Given the description of an element on the screen output the (x, y) to click on. 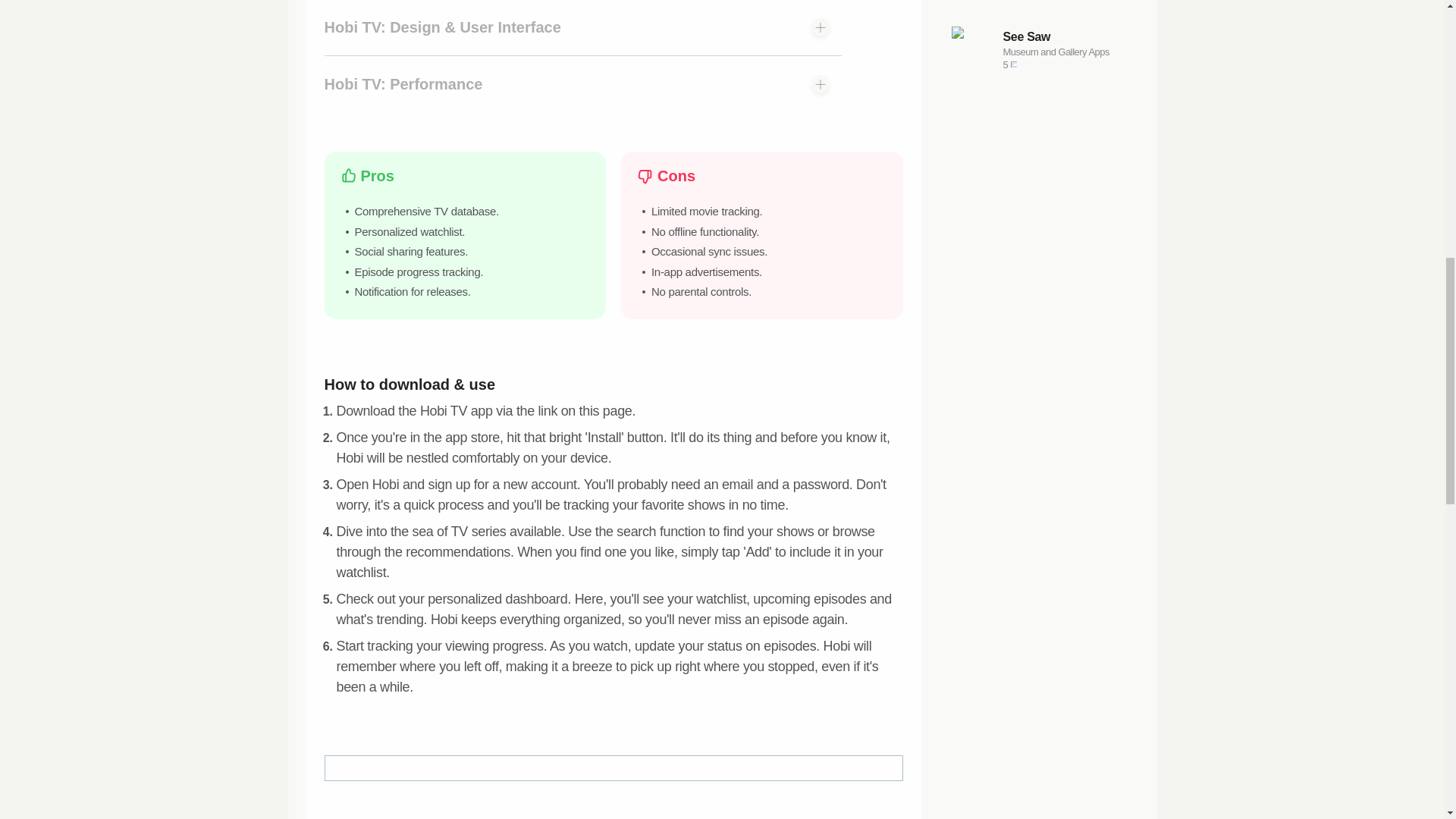
Hobi TV: Performance (1041, 2)
Museum and Gallery Apps (582, 84)
See Saw (1067, 51)
